Given the description of an element on the screen output the (x, y) to click on. 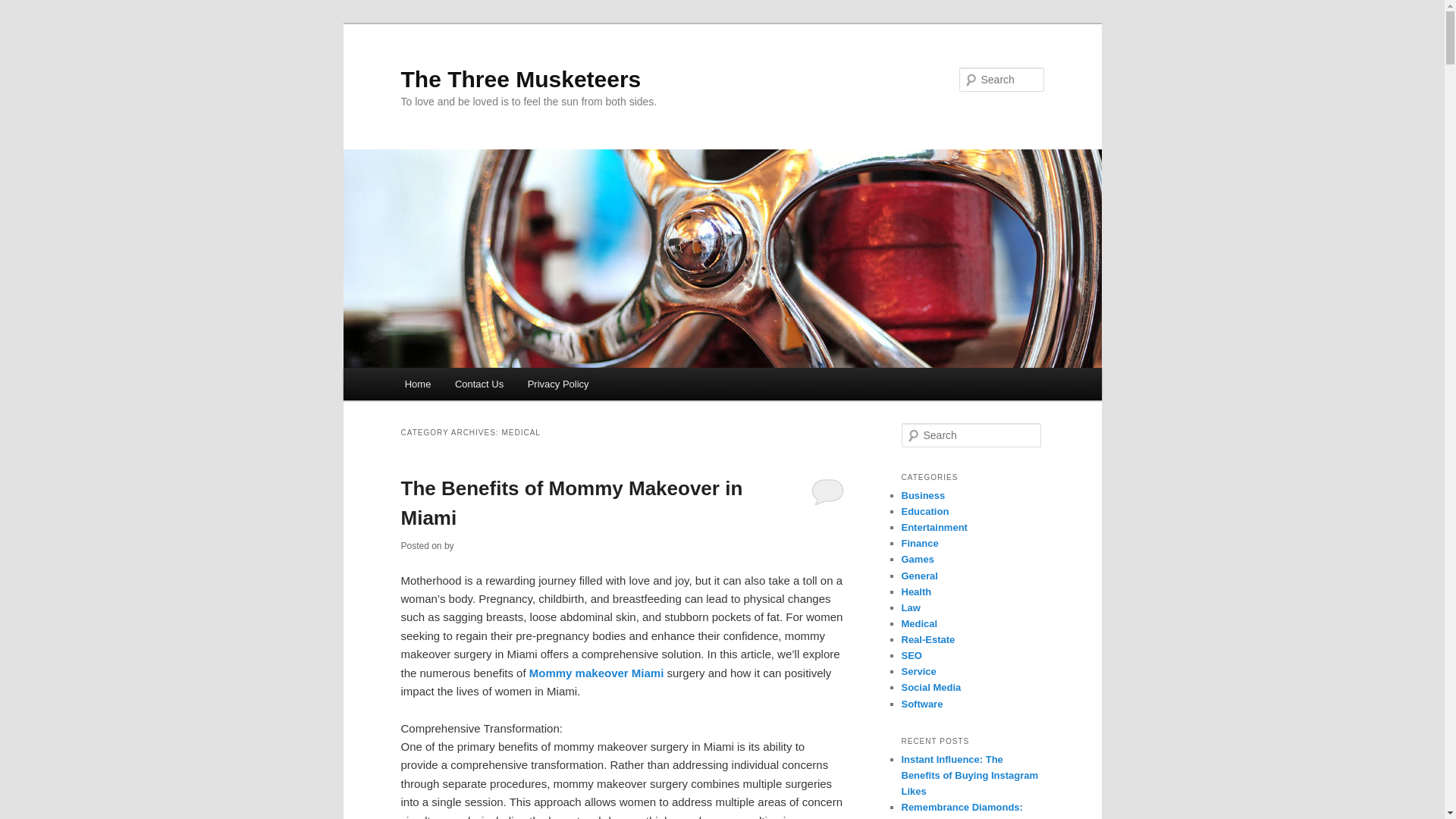
Contact Us (478, 383)
Mommy makeover Miami (596, 672)
The Benefits of Mommy Makeover in Miami (571, 502)
Home (417, 383)
The Three Musketeers (520, 78)
Search (24, 8)
Privacy Policy (557, 383)
